Given the description of an element on the screen output the (x, y) to click on. 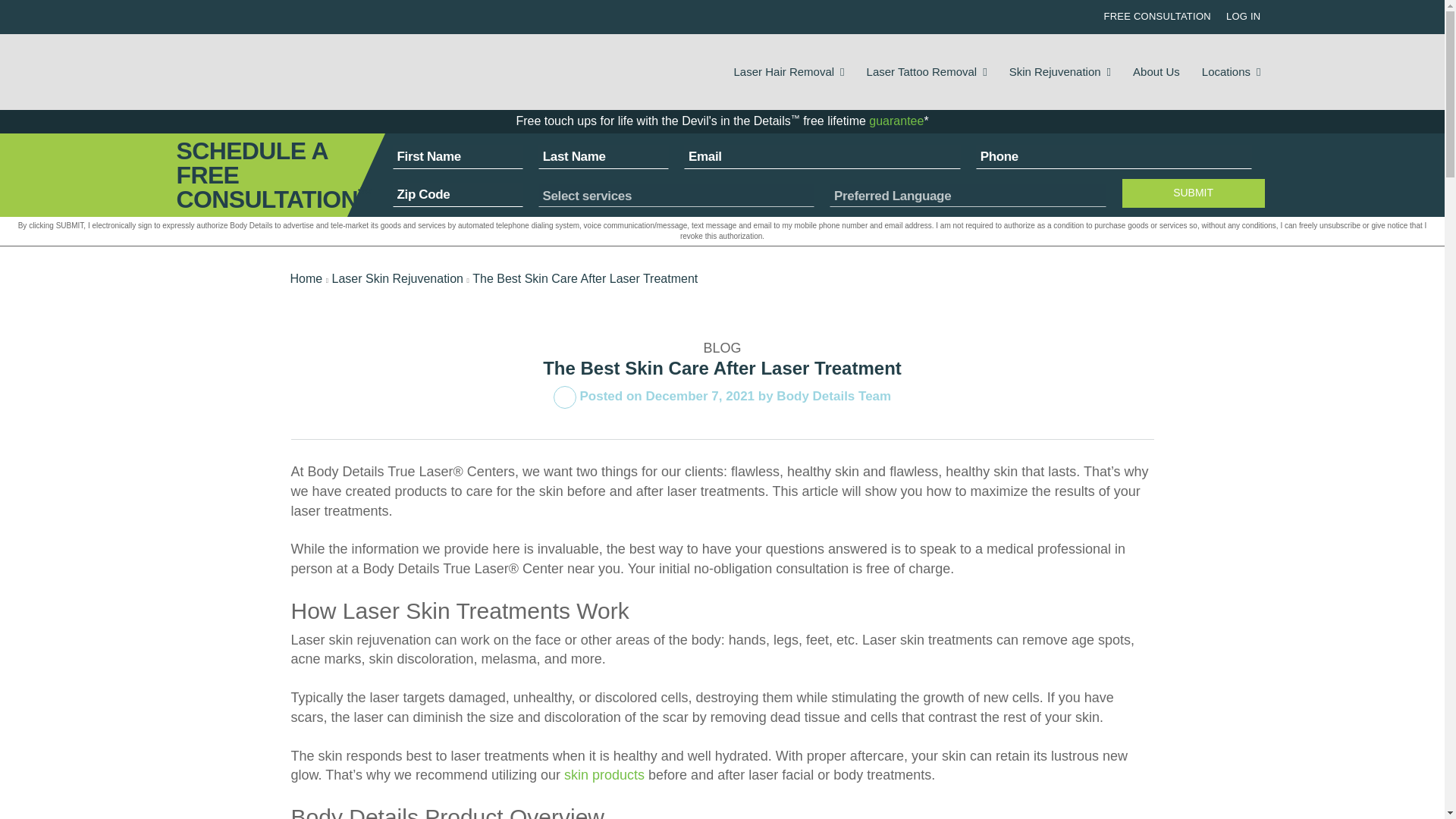
LOG IN (1242, 16)
FREE CONSULTATION (1156, 16)
The Best Skin Care After Laser Treatment (584, 278)
Skin Rejuvenation (1059, 71)
Locations (1231, 71)
Home (305, 278)
About Us (1155, 71)
SUBMIT (1193, 193)
Laser Tattoo Removal (926, 71)
skin products (604, 774)
